Given the description of an element on the screen output the (x, y) to click on. 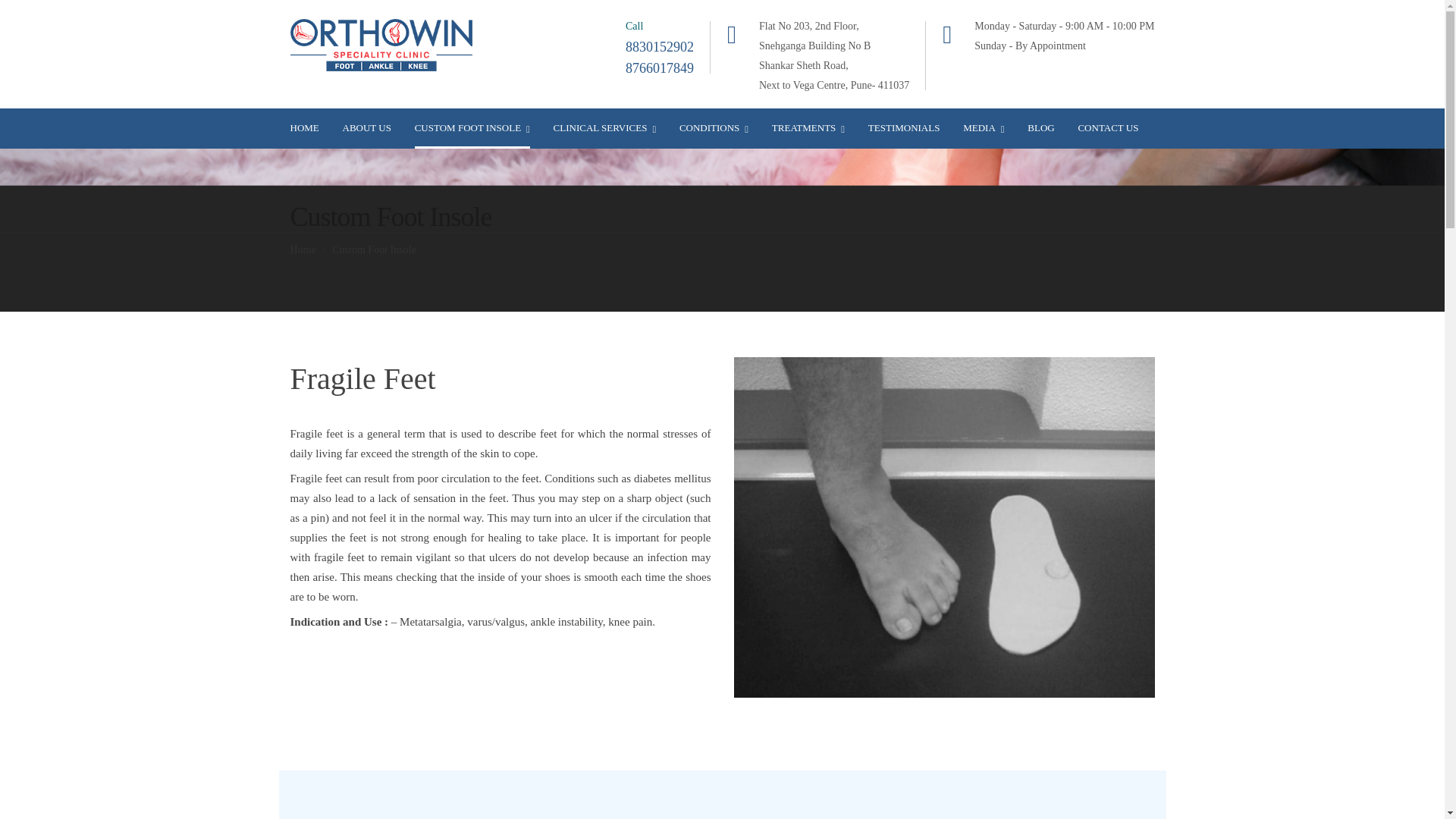
CONDITIONS (713, 128)
CLINICAL SERVICES (604, 128)
ABOUT US (366, 128)
CUSTOM FOOT INSOLE (471, 128)
